Given the description of an element on the screen output the (x, y) to click on. 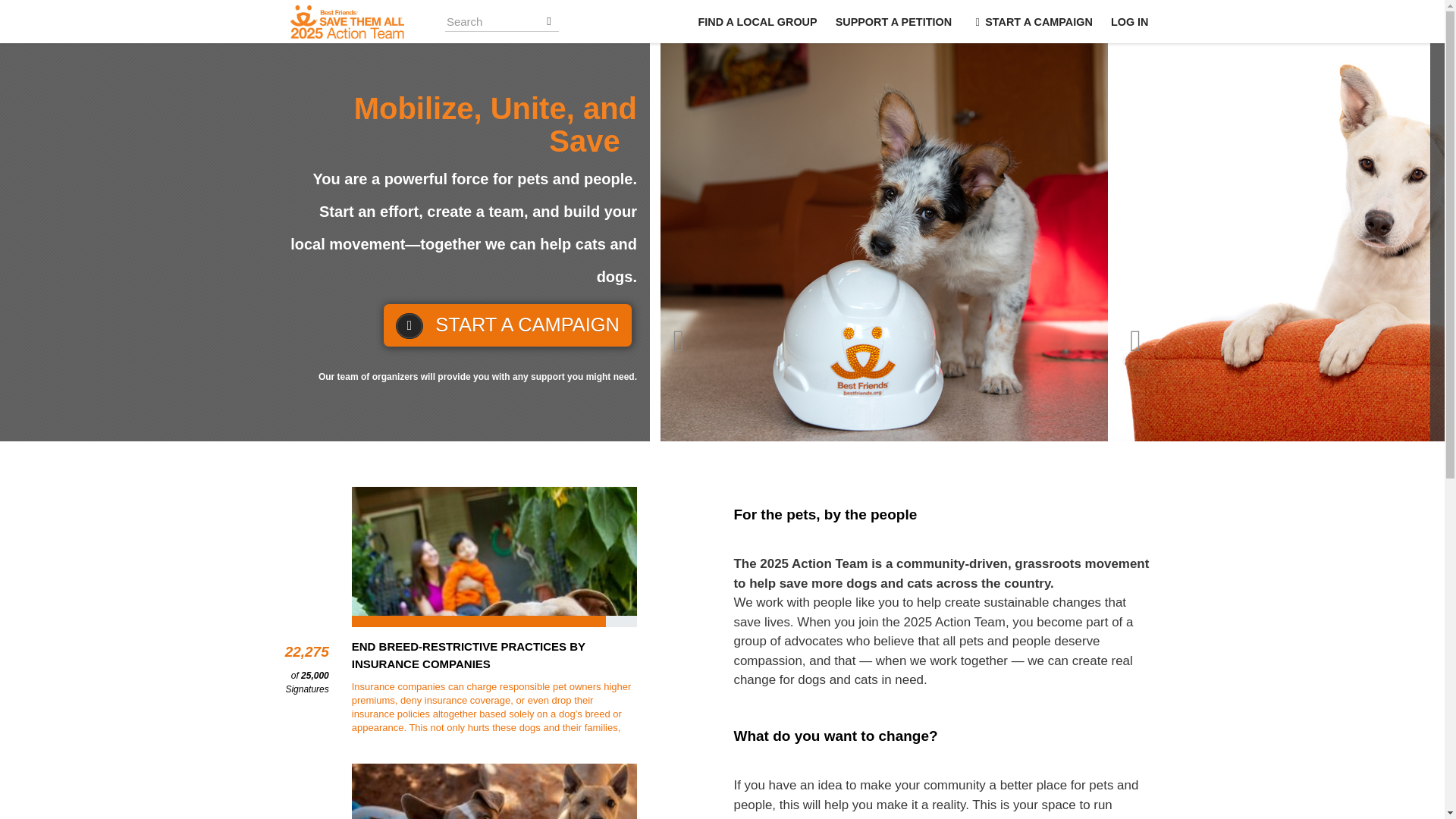
START A CAMPAIGN (1031, 21)
FIND A LOCAL GROUP (756, 21)
END BREED-RESTRICTIVE PRACTICES BY INSURANCE COMPANIES (494, 655)
START A CAMPAIGN (506, 325)
SUPPORT A PETITION (893, 21)
LOG IN (1129, 21)
